Given the description of an element on the screen output the (x, y) to click on. 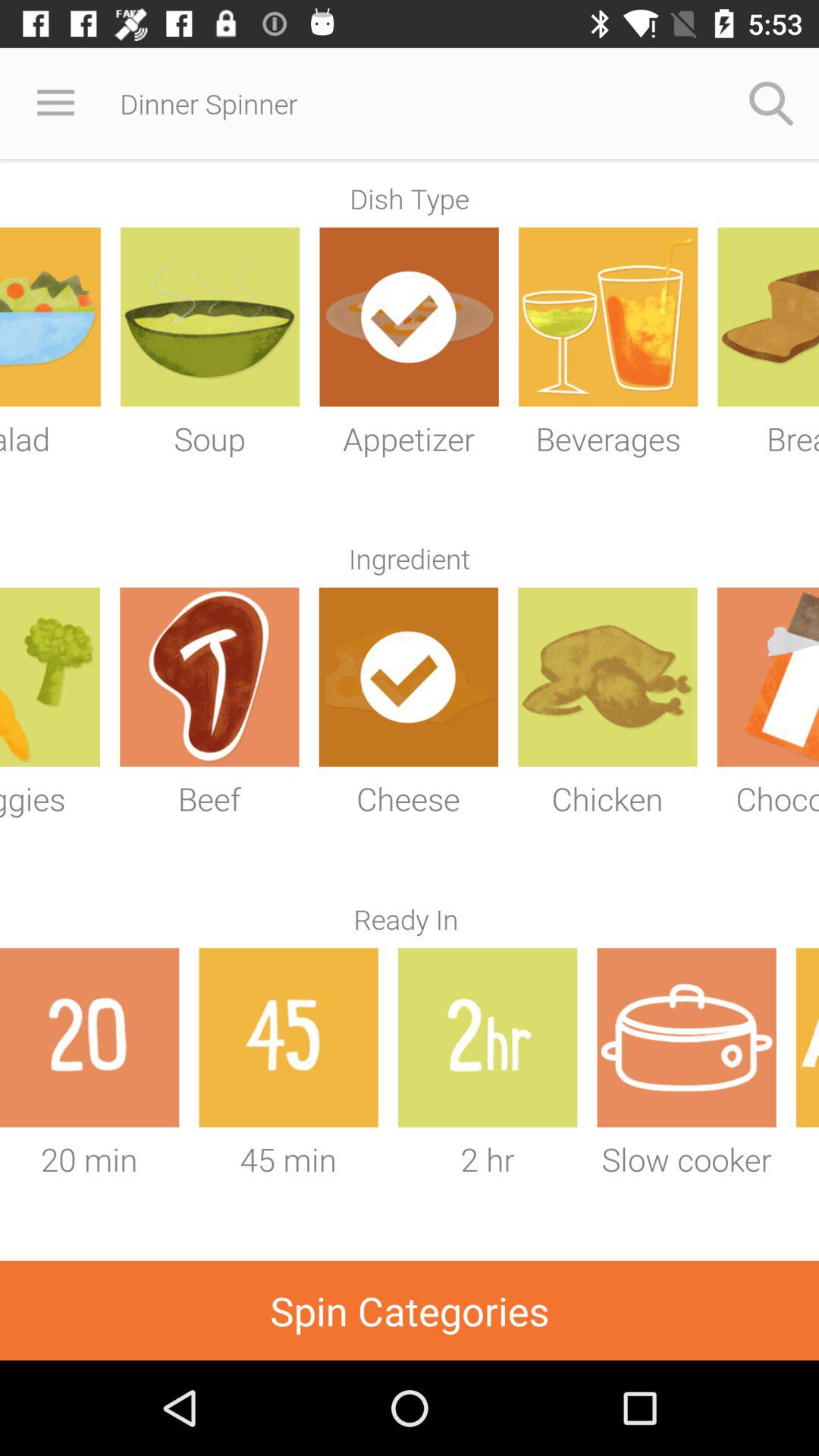
select the icon which is below dish type (408, 316)
